Given the description of an element on the screen output the (x, y) to click on. 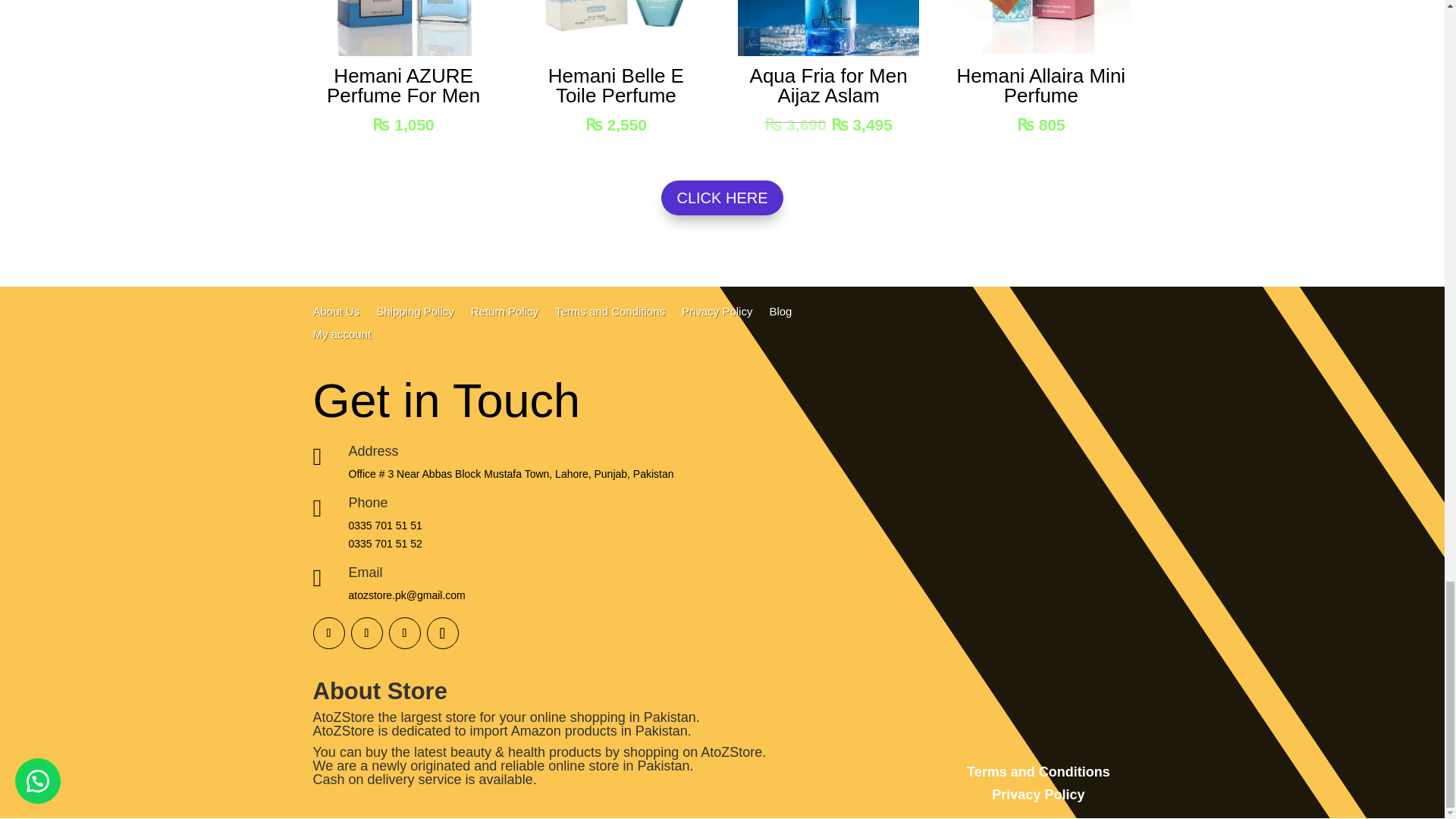
Follow on Facebook (328, 633)
Follow on Youtube (404, 633)
Follow on LinkedIn (442, 633)
Follow on Instagram (365, 633)
